Given the description of an element on the screen output the (x, y) to click on. 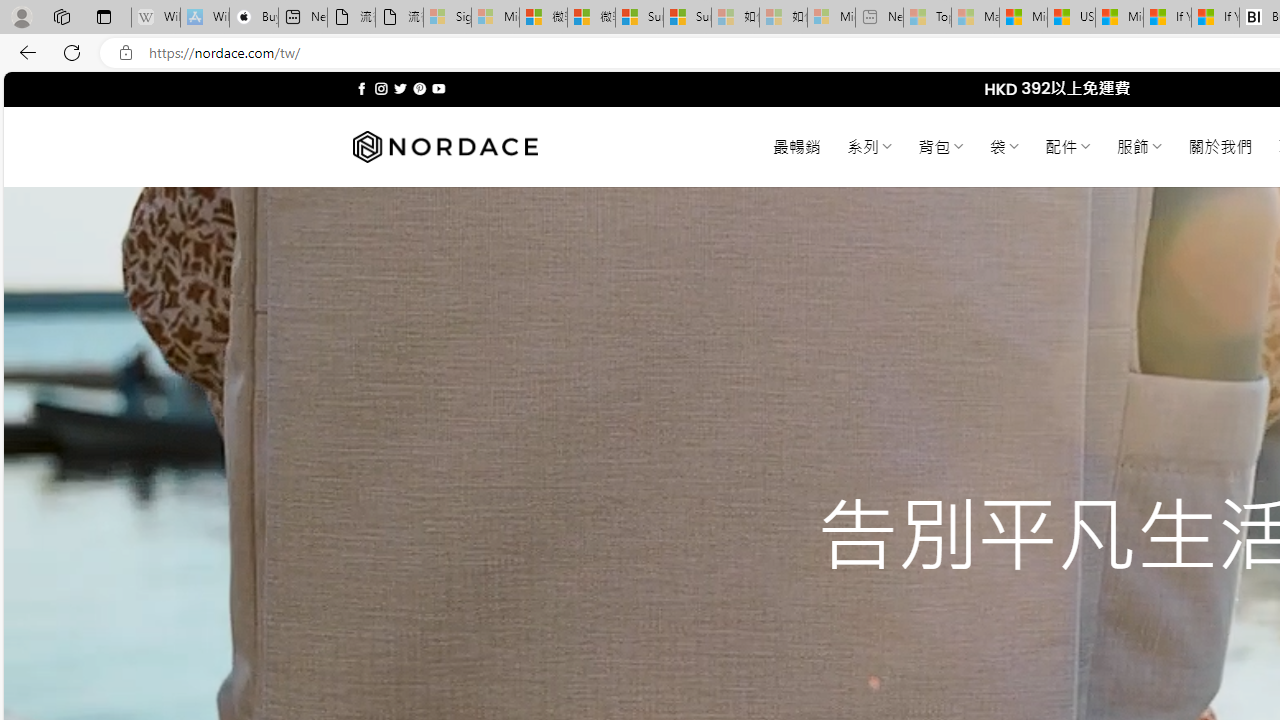
Follow on Twitter (400, 88)
